Given the description of an element on the screen output the (x, y) to click on. 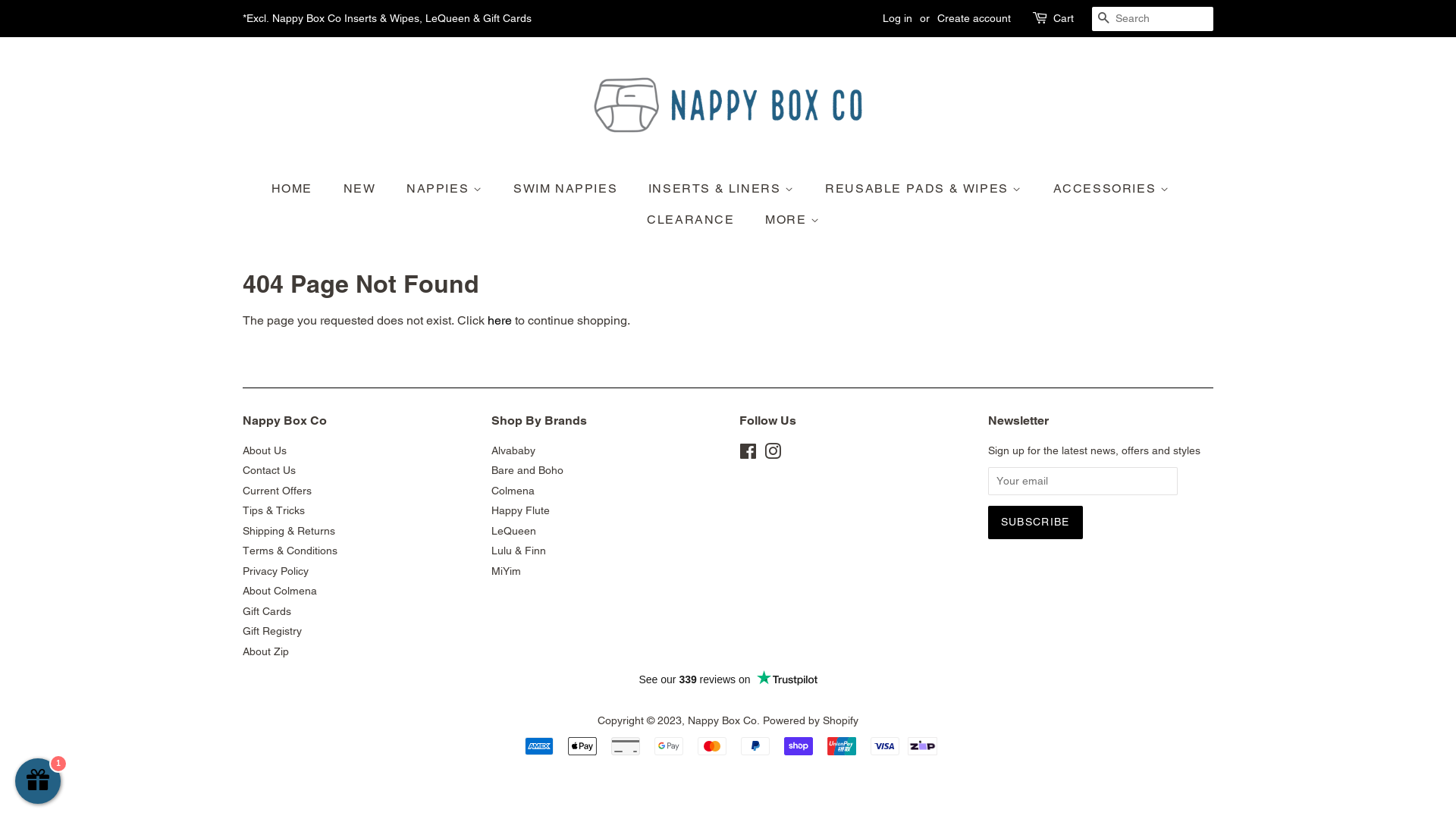
Happy Flute Element type: text (520, 510)
Privacy Policy Element type: text (275, 570)
Log in Element type: text (897, 18)
About Colmena Element type: text (279, 590)
Lulu & Finn Element type: text (518, 550)
Tips & Tricks Element type: text (273, 510)
Bare and Boho Element type: text (527, 470)
REUSABLE PADS & WIPES Element type: text (925, 187)
Powered by Shopify Element type: text (810, 720)
Create account Element type: text (973, 18)
Terms & Conditions Element type: text (289, 550)
About Zip Element type: text (265, 651)
SEARCH Element type: text (1104, 18)
SWIM NAPPIES Element type: text (567, 187)
Subscribe Element type: text (1034, 522)
Gift Registry Element type: text (271, 630)
HOME Element type: text (299, 187)
1 Element type: text (37, 780)
ACCESSORIES Element type: text (1113, 187)
NAPPIES Element type: text (446, 187)
Nappy Box Co Element type: text (721, 720)
Alvababy Element type: text (513, 450)
CLEARANCE Element type: text (692, 219)
MORE Element type: text (786, 219)
INSERTS & LINERS Element type: text (723, 187)
LeQueen Element type: text (513, 530)
here Element type: text (499, 320)
About Us Element type: text (264, 450)
Gift Cards Element type: text (266, 611)
MiYim Element type: text (505, 570)
Customer reviews powered by Trustpilot Element type: hover (727, 679)
Facebook Element type: text (747, 454)
Instagram Element type: text (772, 454)
Colmena Element type: text (512, 490)
Shipping & Returns Element type: text (288, 530)
NEW Element type: text (361, 187)
Current Offers Element type: text (276, 490)
Cart Element type: text (1063, 18)
Contact Us Element type: text (268, 470)
